Given the description of an element on the screen output the (x, y) to click on. 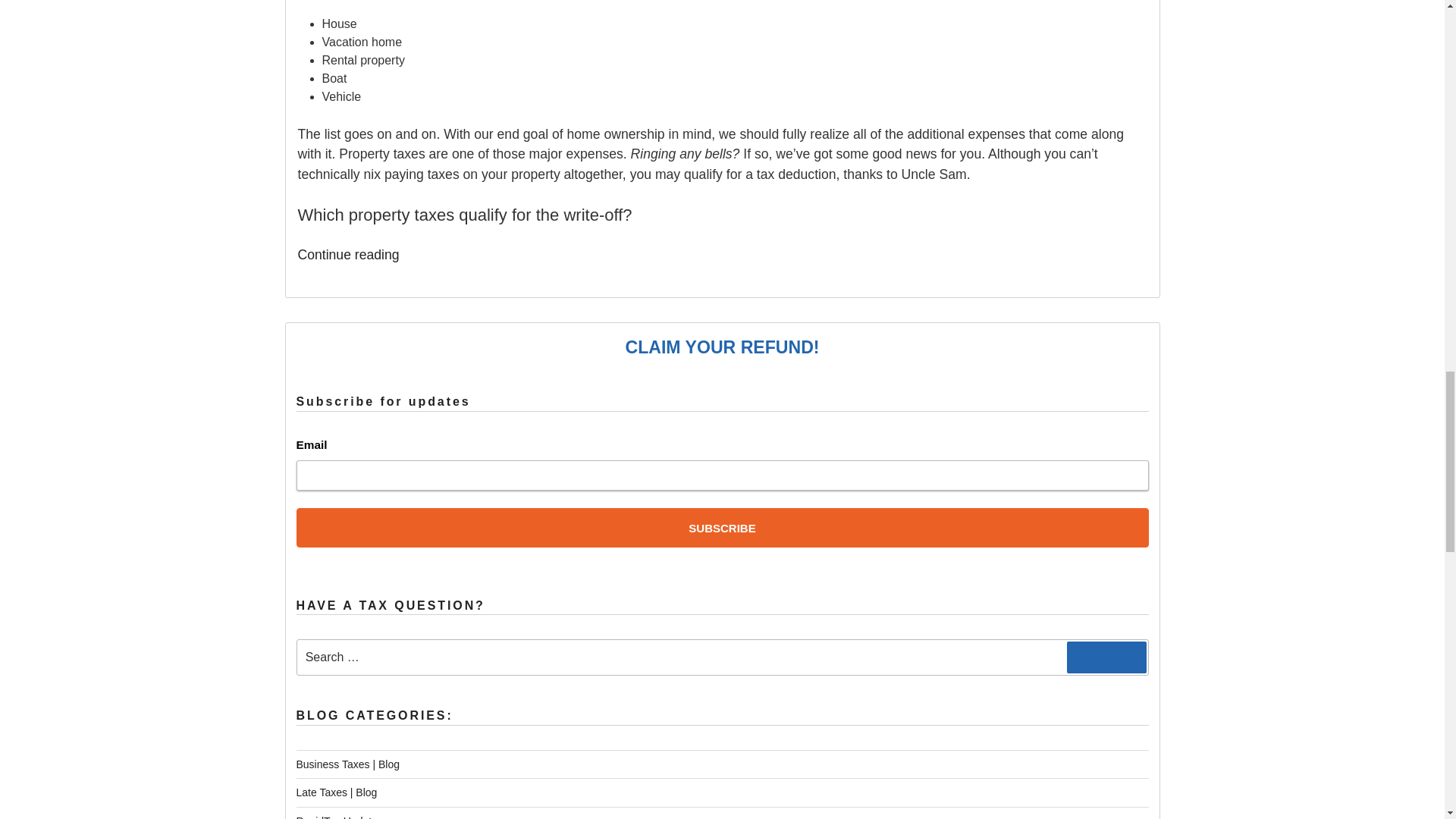
CLAIM YOUR REFUND! (721, 347)
Search (1107, 657)
SUBSCRIBE (721, 527)
